Given the description of an element on the screen output the (x, y) to click on. 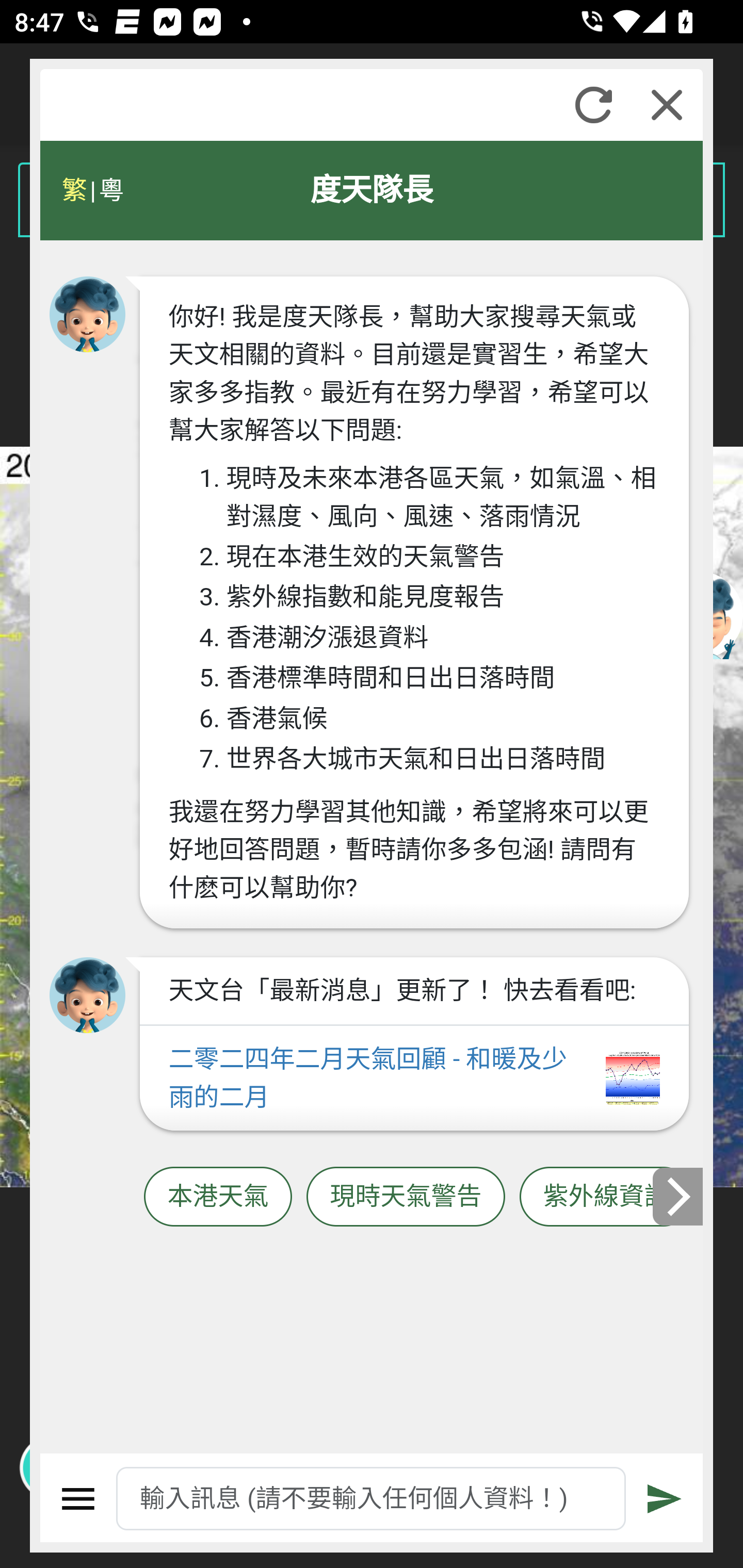
重新整理 (593, 104)
關閉 (666, 104)
繁 (73, 190)
粵 (110, 190)
二零二四年二月天氣回顧 - 和暖及少雨的二月 (413, 1078)
本港天氣 (217, 1196)
現時天氣警告 (405, 1196)
紫外線資訊 (605, 1196)
下一張 (678, 1196)
選單 (78, 1498)
遞交 (665, 1498)
